Given the description of an element on the screen output the (x, y) to click on. 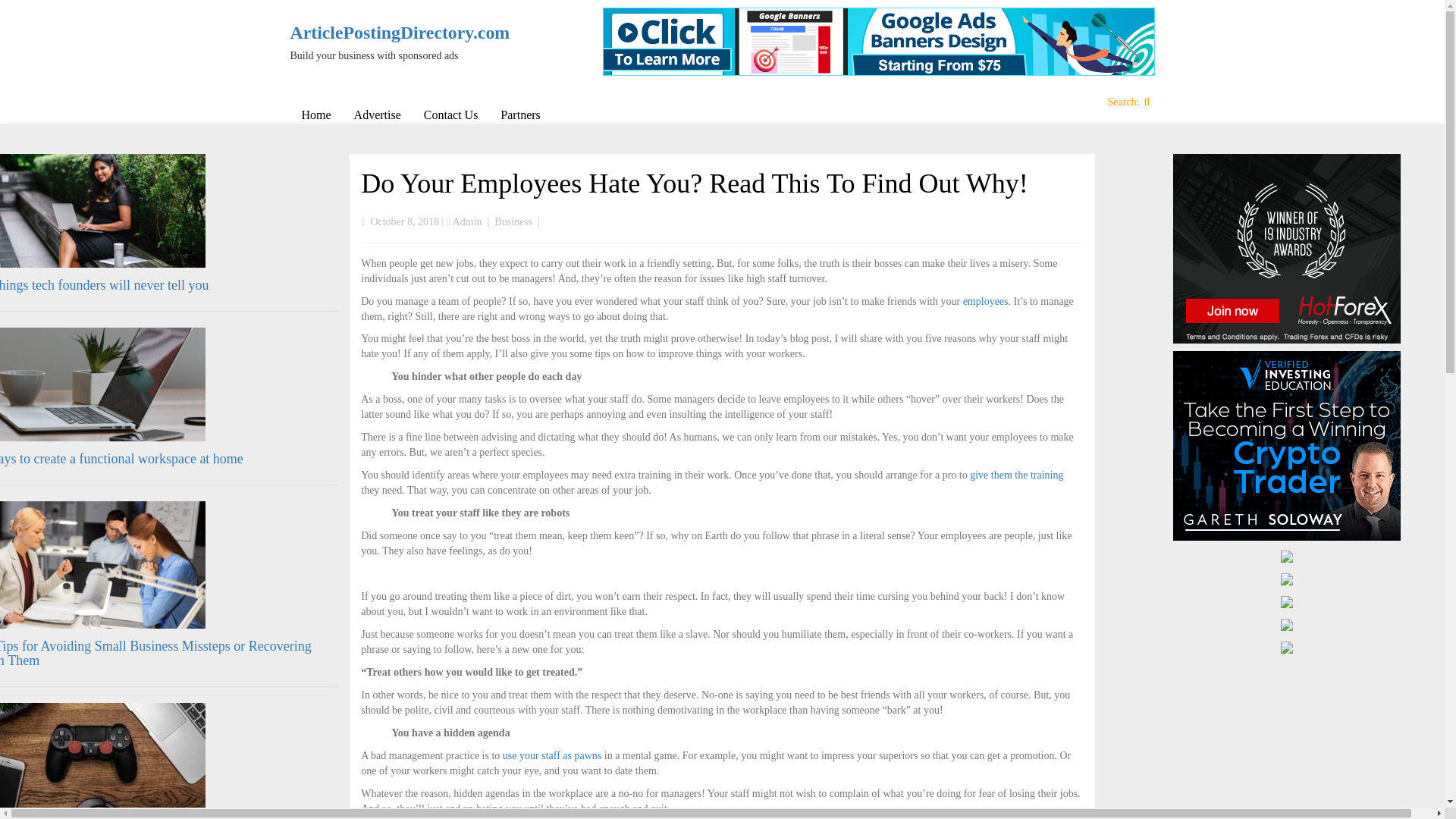
Contact Us (450, 115)
5 ways to create a functional workspace at home (121, 458)
Partners (520, 115)
10 things tech founders will never tell you (104, 284)
ArticlePostingDirectory.com (389, 32)
Posts by Admin (466, 221)
Admin (466, 221)
Do Your Employees Hate You? Read This To Find Out Why! (694, 183)
Advertise (377, 115)
Home (315, 115)
